Given the description of an element on the screen output the (x, y) to click on. 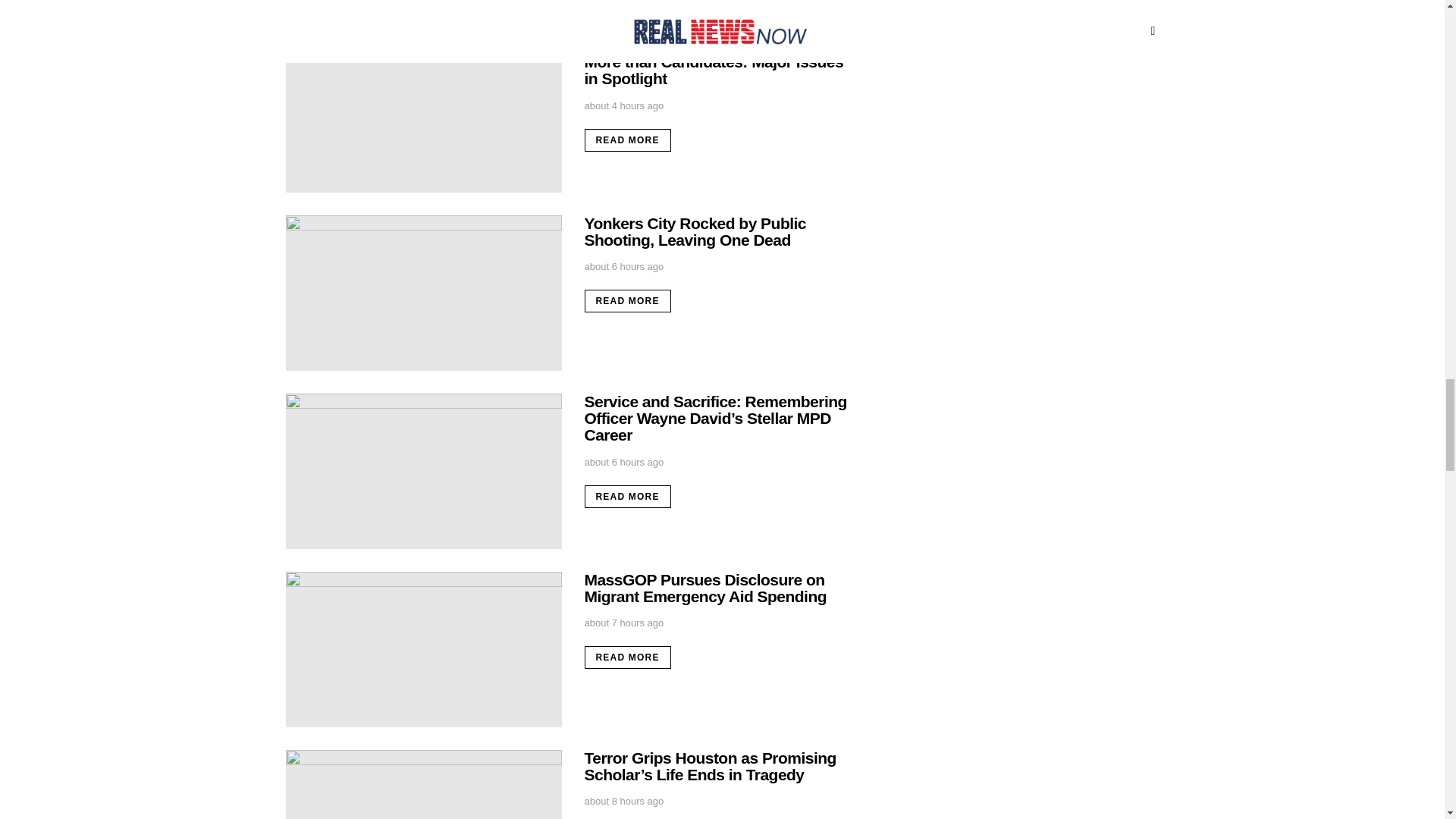
READ MORE (626, 300)
READ MORE (626, 139)
August 29, 2024, 2:35 pm (623, 462)
August 29, 2024, 5:00 pm (623, 105)
August 29, 2024, 2:00 pm (623, 623)
READ MORE (626, 657)
READ MORE (626, 496)
Yonkers City Rocked by Public Shooting, Leaving One Dead (422, 293)
MassGOP Pursues Disclosure on Migrant Emergency Aid Spending (422, 649)
